Given the description of an element on the screen output the (x, y) to click on. 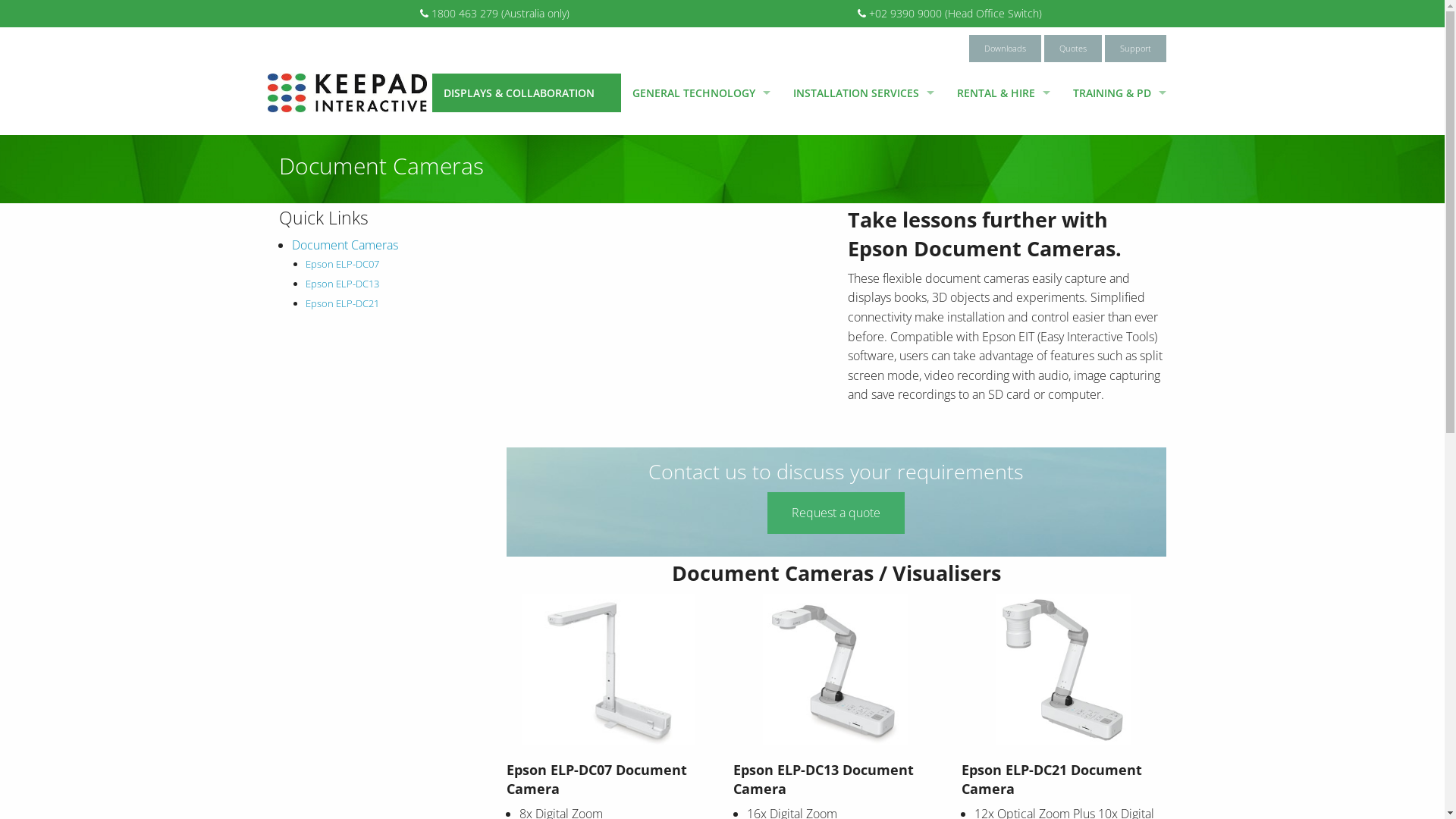
IT Equipment Element type: text (700, 129)
GENERAL TECHNOLOGY Element type: text (700, 92)
Epson ELP-DC13 Element type: text (342, 283)
Document Cameras Element type: text (344, 244)
Downloads Element type: text (1005, 48)
TurningPoint Element type: text (526, 333)
Interactive Flat Panel Displays Element type: text (526, 231)
DISPLAYS & COLLABORATION Element type: text (526, 92)
Epson ELP-DC21 Element type: text (342, 303)
TVs & Commercial Displays Element type: text (526, 197)
RENTAL & HIRE Element type: text (1002, 92)
Classrooms & Training Rooms Element type: text (862, 129)
TurningPoint Rental Element type: text (1002, 129)
Projectors Element type: text (526, 129)
Wireless Display Element type: text (526, 299)
Professional Development Element type: text (1119, 163)
Video Collaboration Element type: text (526, 265)
Epson ELP-DC07 Element type: text (342, 263)
Document Cameras Element type: text (526, 163)
Request a quote Element type: text (835, 512)
Support Element type: text (1134, 48)
TRAINING & PD Element type: text (1119, 92)
Halls & Auditoriums Element type: text (862, 197)
Swivl Robot Lesson Capture Element type: text (700, 163)
Meeting Rooms & Boardrooms Element type: text (862, 163)
Video Collaboration Element type: text (700, 197)
Quotes Element type: text (1072, 48)
eBeam IWB Element type: text (526, 368)
INSTALLATION SERVICES Element type: text (862, 92)
Pedagogy and Technology Integration Element type: text (1119, 197)
A/V Equipment Hire Element type: text (1002, 163)
User Training Element type: text (1119, 129)
